Given the description of an element on the screen output the (x, y) to click on. 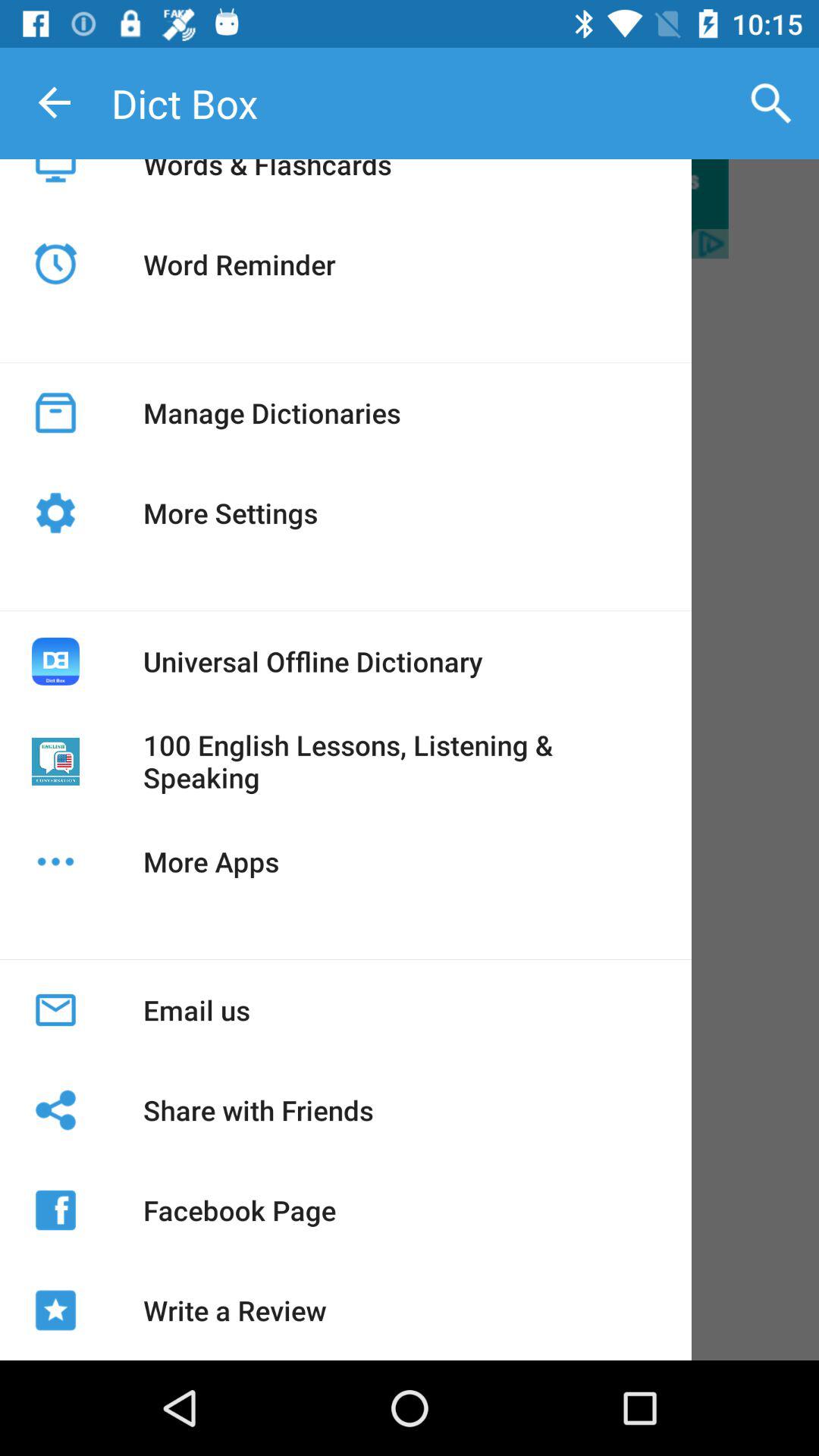
click icon to the right of the dict box item (771, 103)
